Given the description of an element on the screen output the (x, y) to click on. 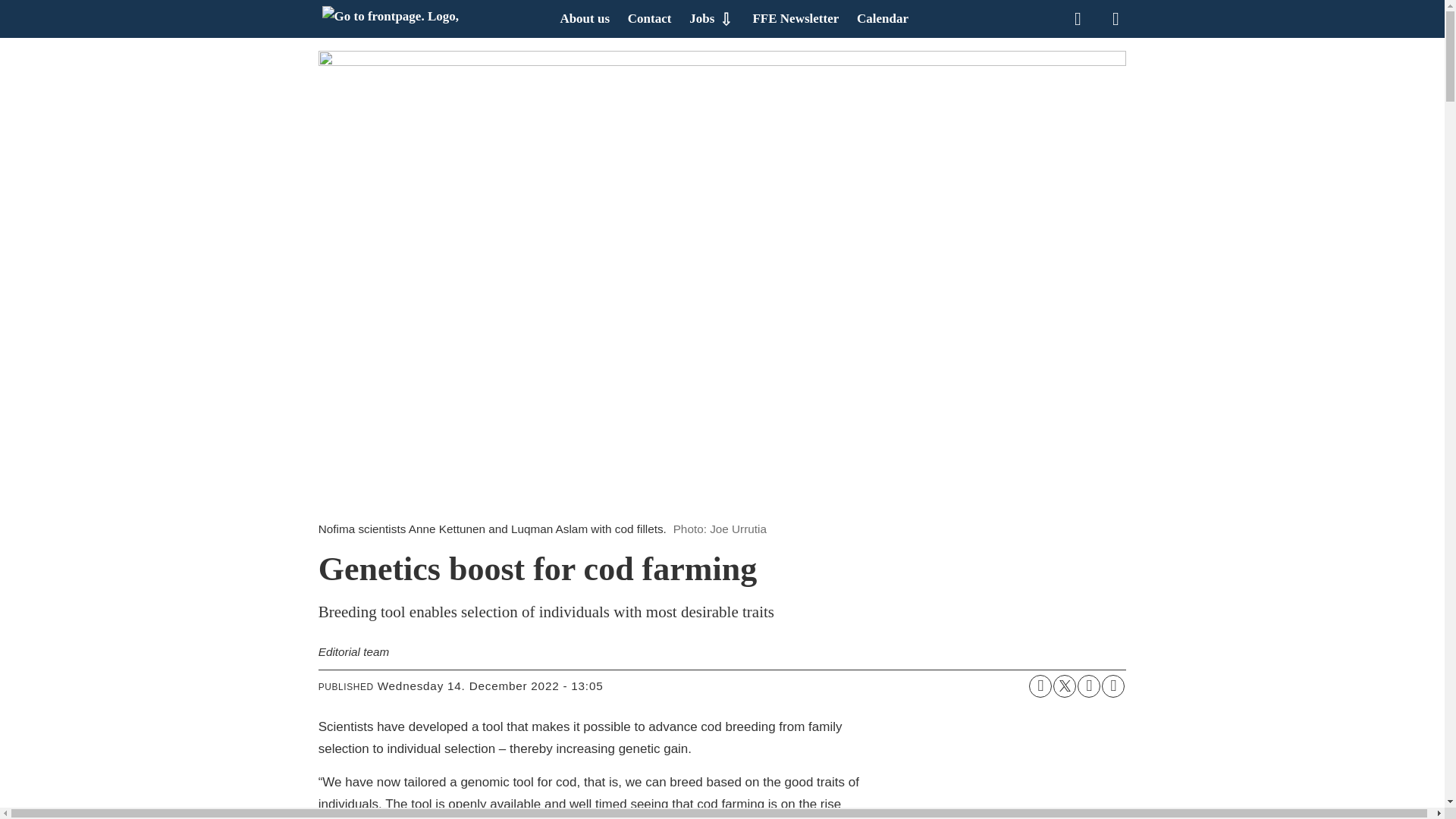
Calendar (882, 18)
About us (584, 18)
Contact (649, 18)
FFE Newsletter (795, 18)
Published wednesday 14. December 2022 - 13:05 (490, 686)
